Given the description of an element on the screen output the (x, y) to click on. 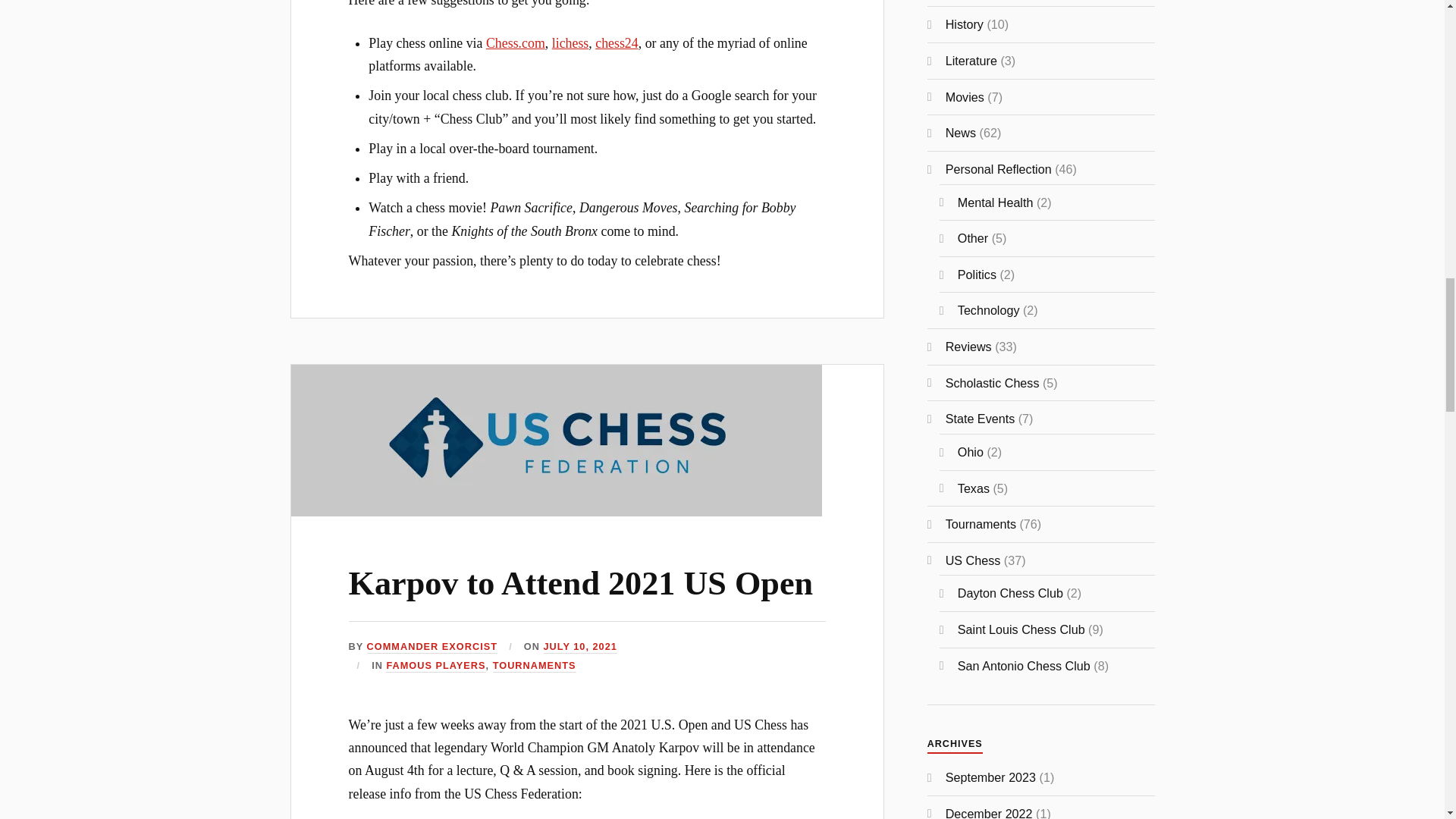
Chess.com (515, 43)
chess24 (617, 43)
Posts by Commander Exorcist (431, 646)
lichess (570, 43)
